Given the description of an element on the screen output the (x, y) to click on. 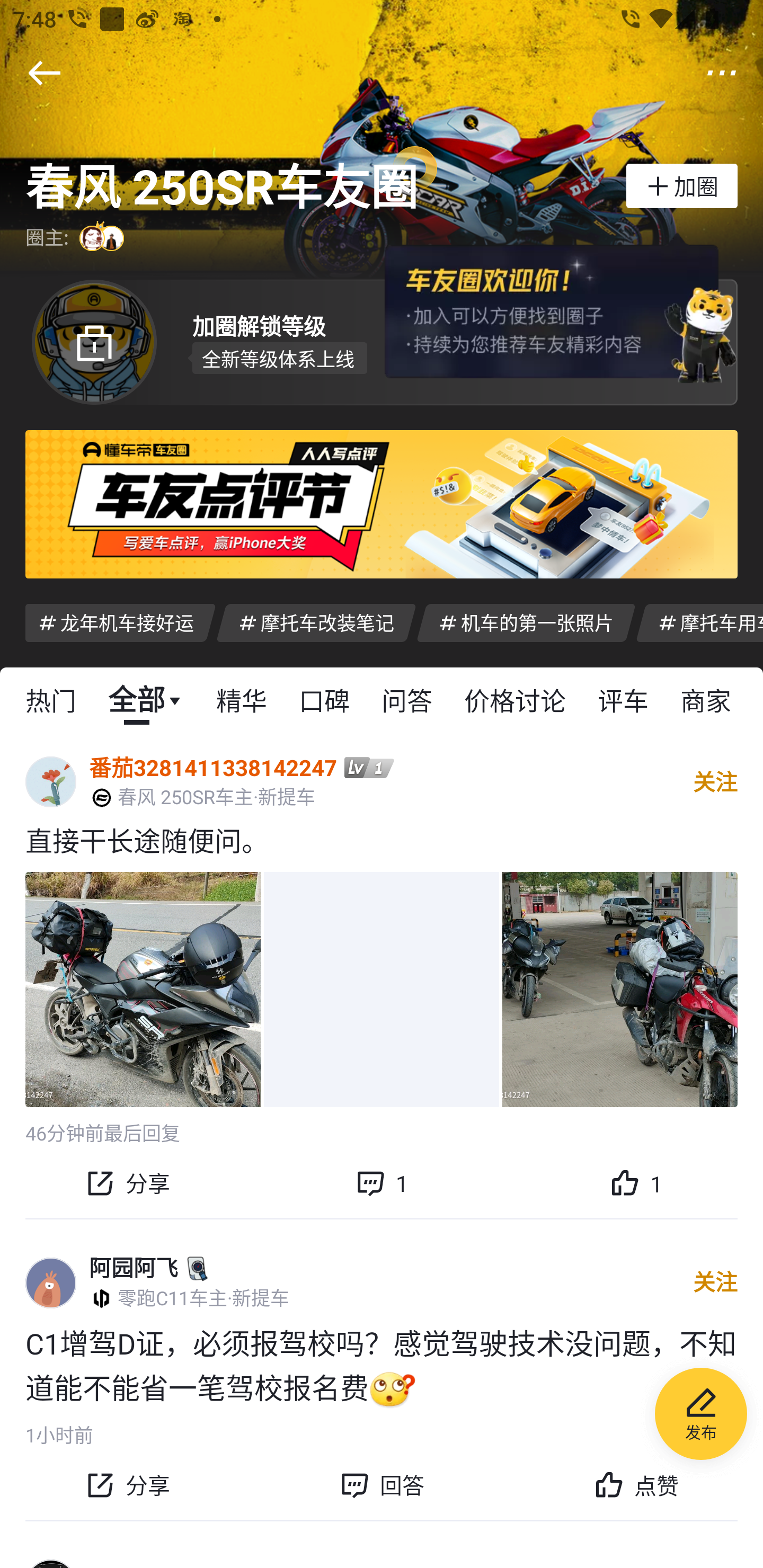
 (44, 72)
 (721, 72)
圈主: (76, 238)
 龙年机车接好运 (120, 622)
 摩托车改装笔记 (315, 622)
 机车的第一张照片 (525, 622)
热门 (50, 698)
全部  (146, 698)
精华 (241, 698)
口碑 (324, 698)
问答 (406, 698)
价格讨论 (514, 698)
评车 (622, 698)
商家 (705, 698)
番茄3281411338142247 (213, 767)
关注 (714, 781)
直接干长途随便问。 (381, 839)
 分享 (127, 1182)
 1 (381, 1182)
1 (635, 1182)
阿园阿飞 (133, 1268)
关注 (714, 1282)
C1增驾D证，必须报驾校吗？感觉驾驶技术没问题，不知道能不能省一笔驾校报名费[what] (381, 1365)
 发布 (701, 1416)
 分享 (127, 1485)
 回答 (381, 1485)
点赞 (635, 1485)
